Given the description of an element on the screen output the (x, y) to click on. 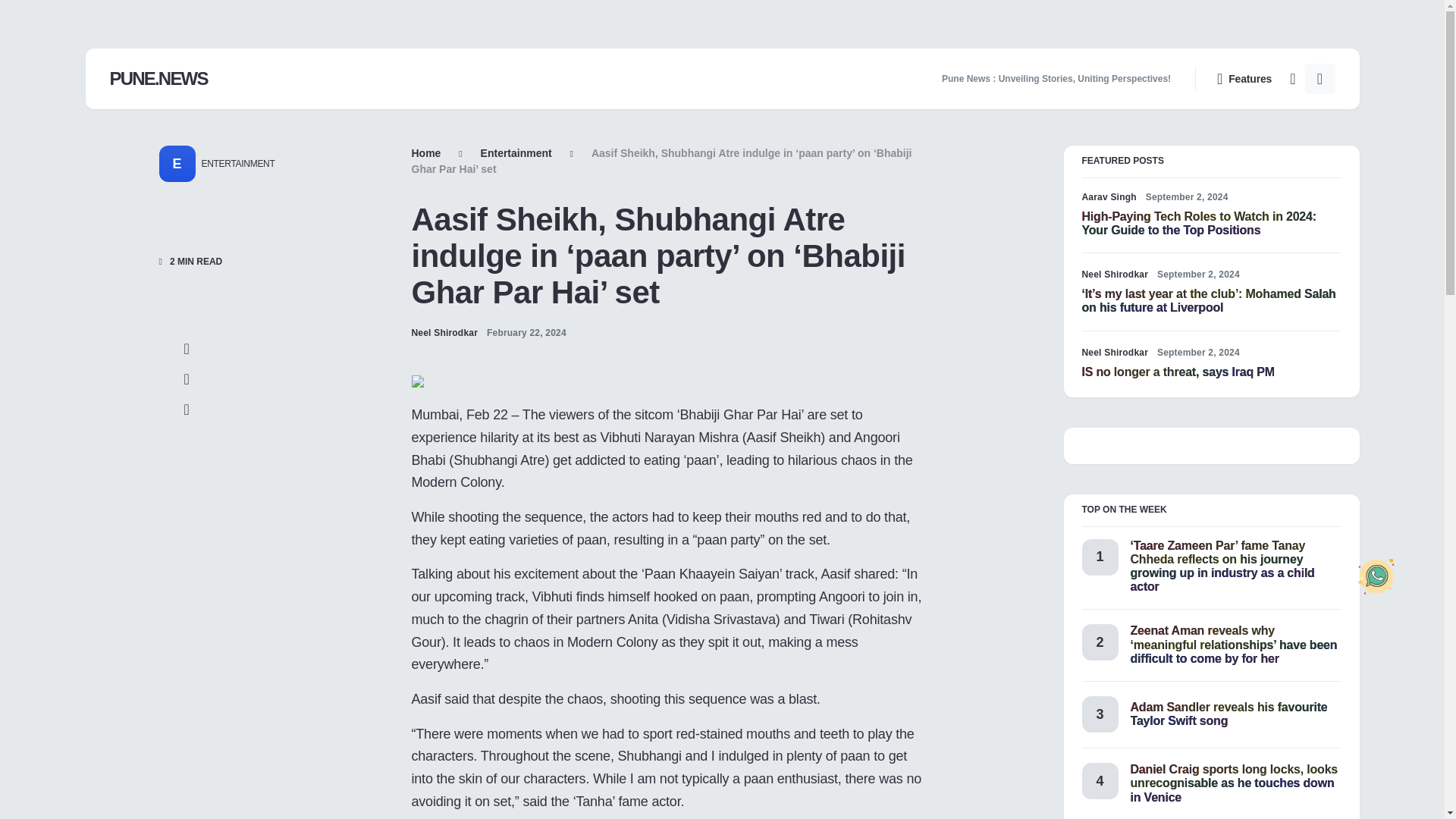
Home (425, 152)
Aarav Singh (1108, 196)
E (176, 163)
View all posts by Neel Shirodkar (1114, 352)
PUNE.NEWS (157, 78)
Entertainment (515, 152)
Neel Shirodkar (443, 332)
Neel Shirodkar (1114, 274)
View all posts by Neel Shirodkar (443, 332)
